Given the description of an element on the screen output the (x, y) to click on. 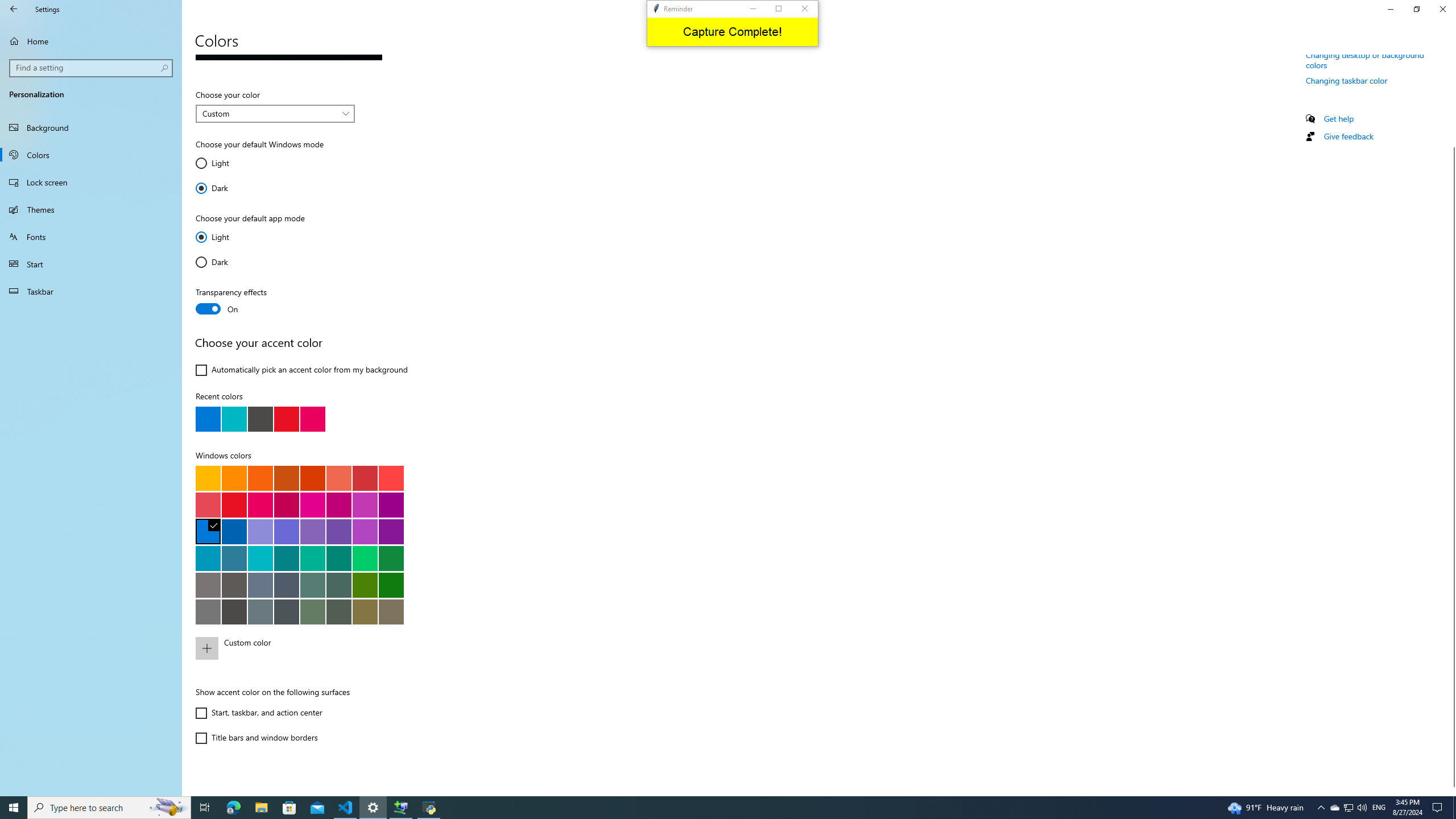
Give feedback (1348, 136)
Get help (1338, 118)
Mint light (311, 557)
Vertical Small Increase (1451, 791)
Taskbar (91, 290)
Overcast (208, 611)
Start, taskbar, and action center (258, 713)
Rose bright (260, 504)
Colors (91, 154)
